Given the description of an element on the screen output the (x, y) to click on. 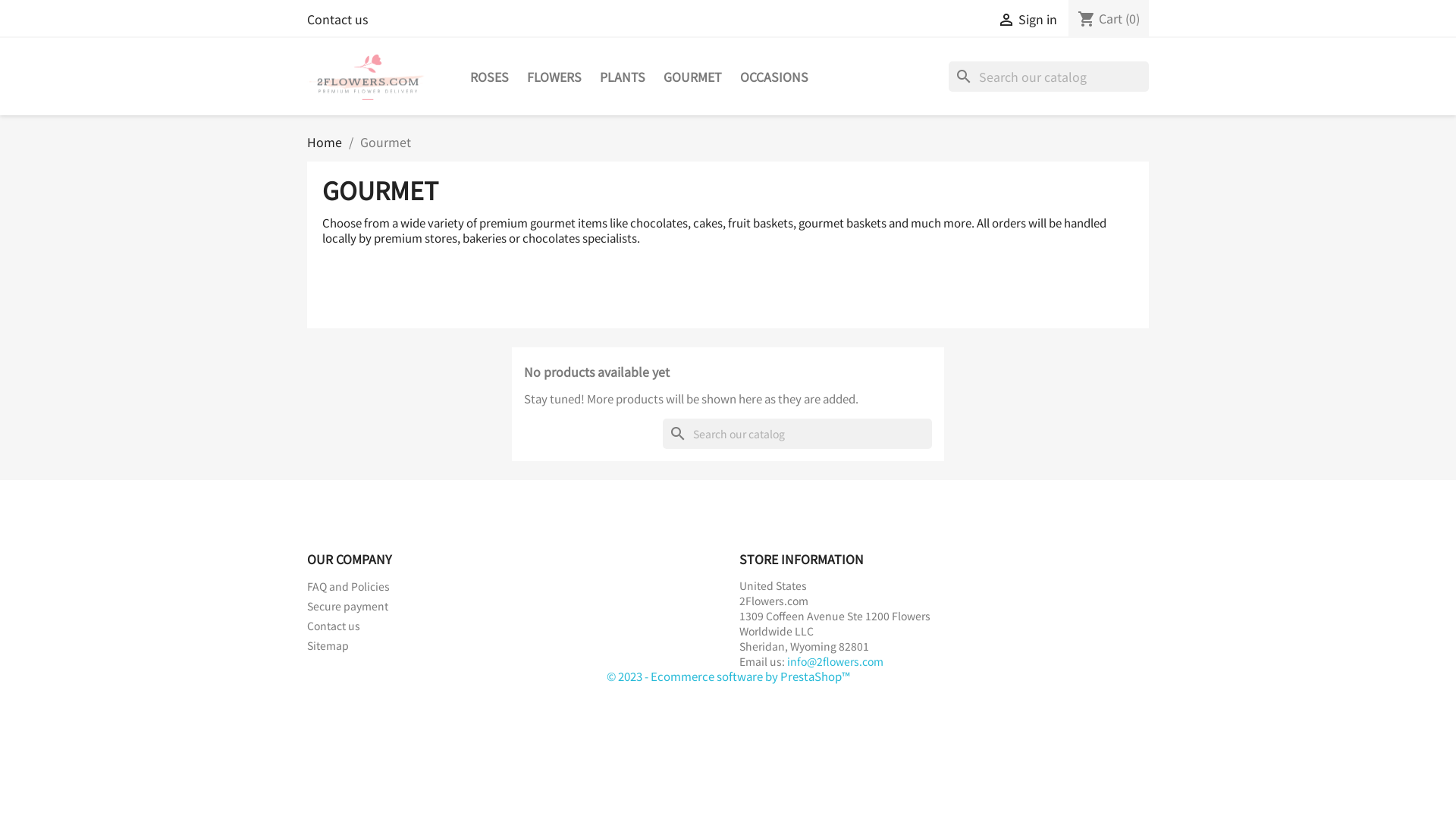
FAQ and Policies Element type: text (348, 585)
Contact us Element type: text (333, 625)
OCCASIONS Element type: text (773, 76)
FLOWERS Element type: text (554, 76)
Contact us Element type: text (337, 18)
Secure payment Element type: text (347, 605)
PLANTS Element type: text (622, 76)
ROSES Element type: text (489, 76)
GOURMET Element type: text (692, 76)
info@2flowers.com Element type: text (835, 660)
Sitemap Element type: text (327, 644)
Home Element type: text (324, 141)
